Given the description of an element on the screen output the (x, y) to click on. 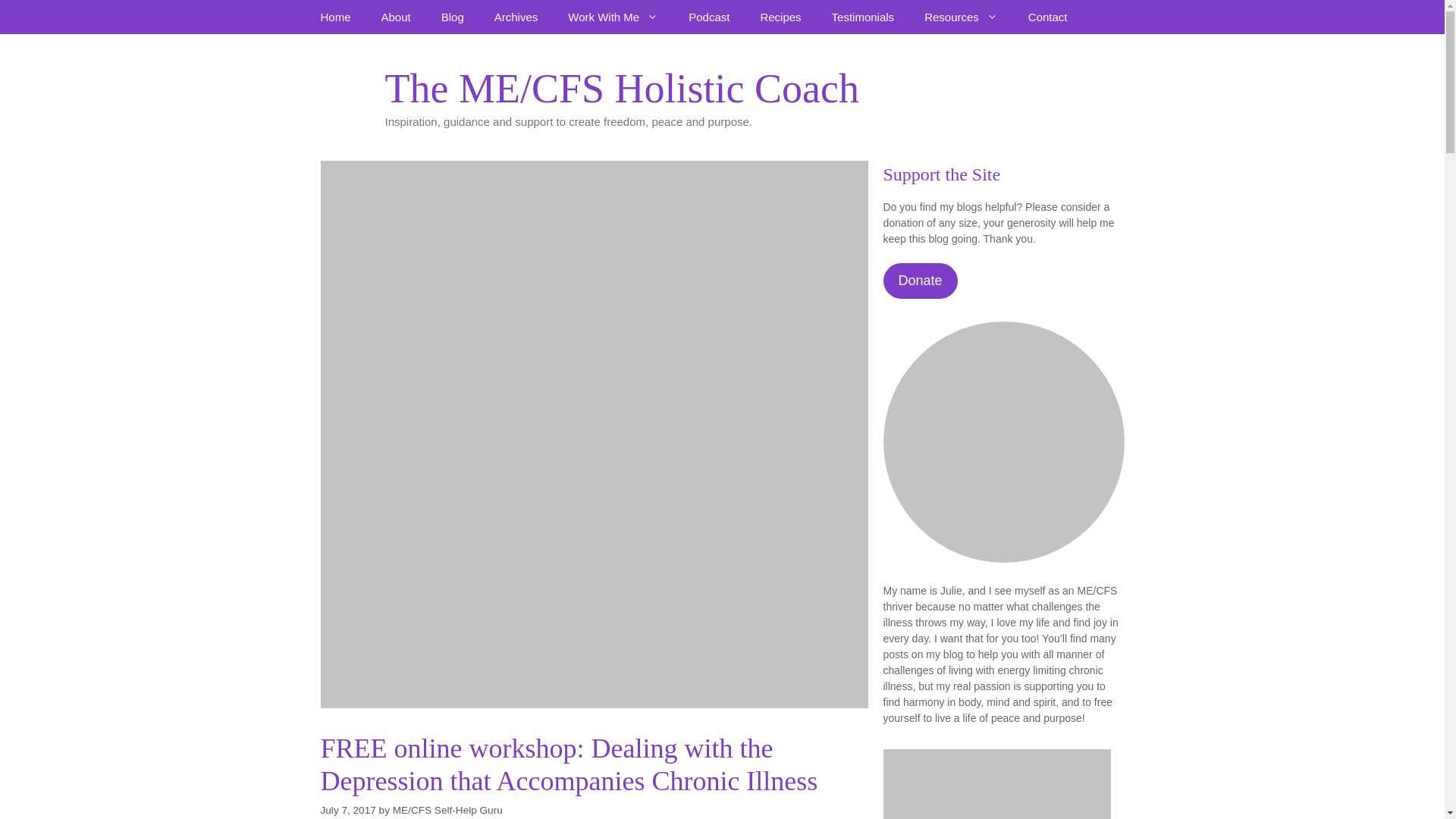
Podcast (708, 17)
Archives (516, 17)
Blog (452, 17)
Contact (1048, 17)
Donate (919, 280)
Recipes (779, 17)
About (396, 17)
Resources (960, 17)
Work With Me (612, 17)
Testimonials (863, 17)
Home (334, 17)
